Given the description of an element on the screen output the (x, y) to click on. 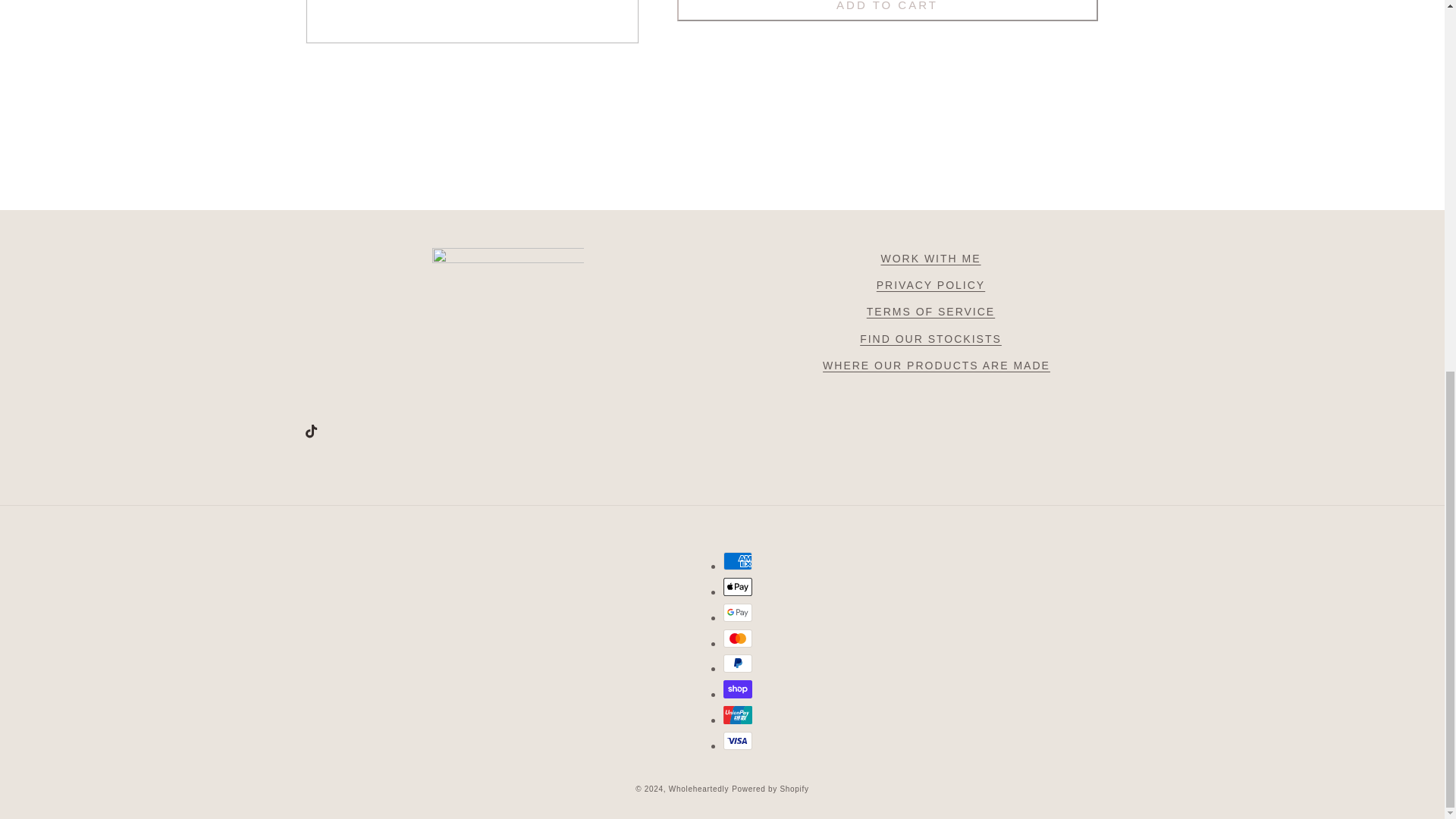
Mastercard (737, 638)
Google Pay (737, 612)
PayPal (737, 663)
Shop Pay (737, 689)
Union Pay (737, 714)
Visa (737, 741)
ADD TO CART (887, 10)
American Express (737, 561)
Apple Pay (737, 587)
